Given the description of an element on the screen output the (x, y) to click on. 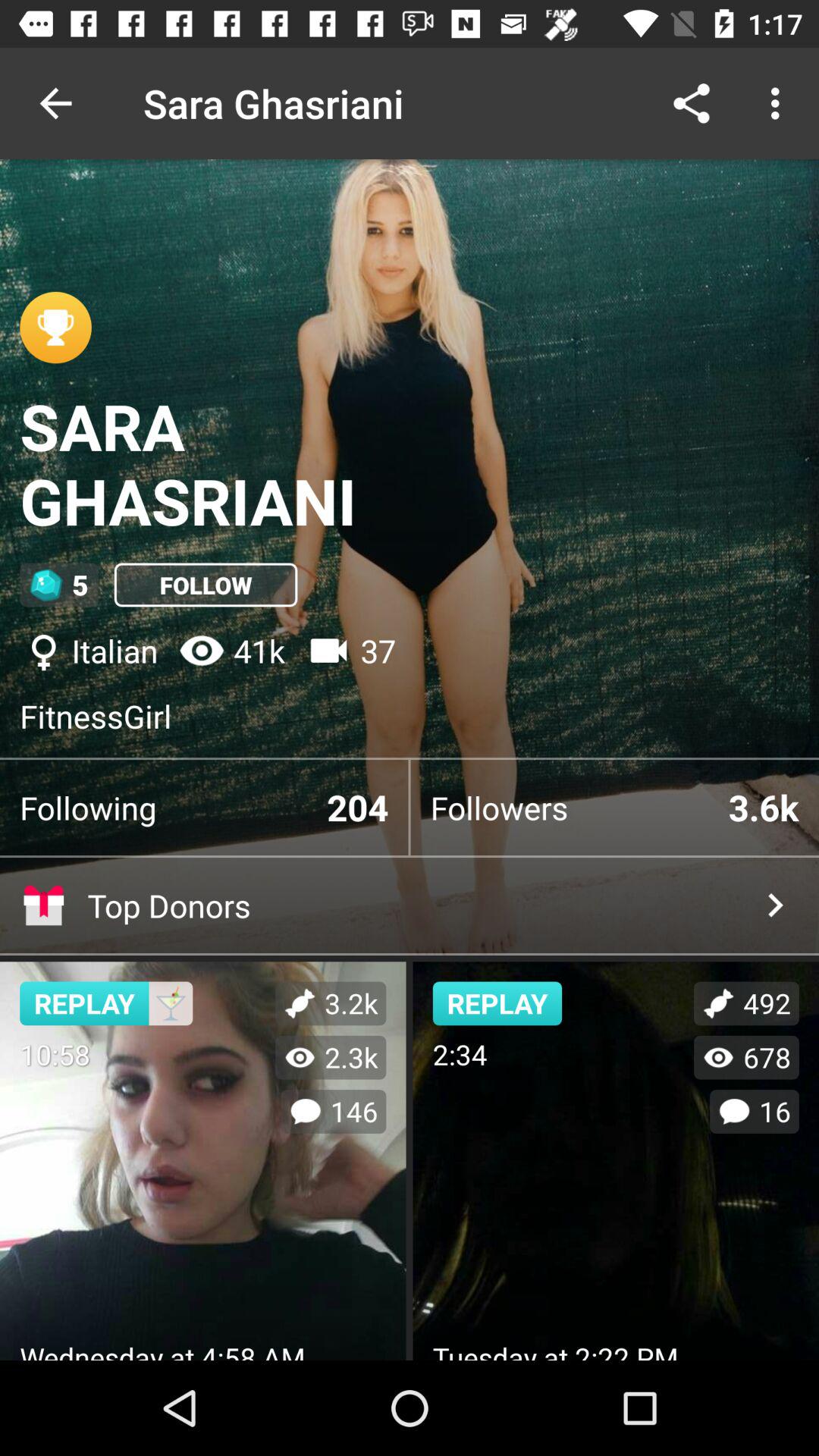
open icon below sara
ghasriani icon (205, 584)
